Given the description of an element on the screen output the (x, y) to click on. 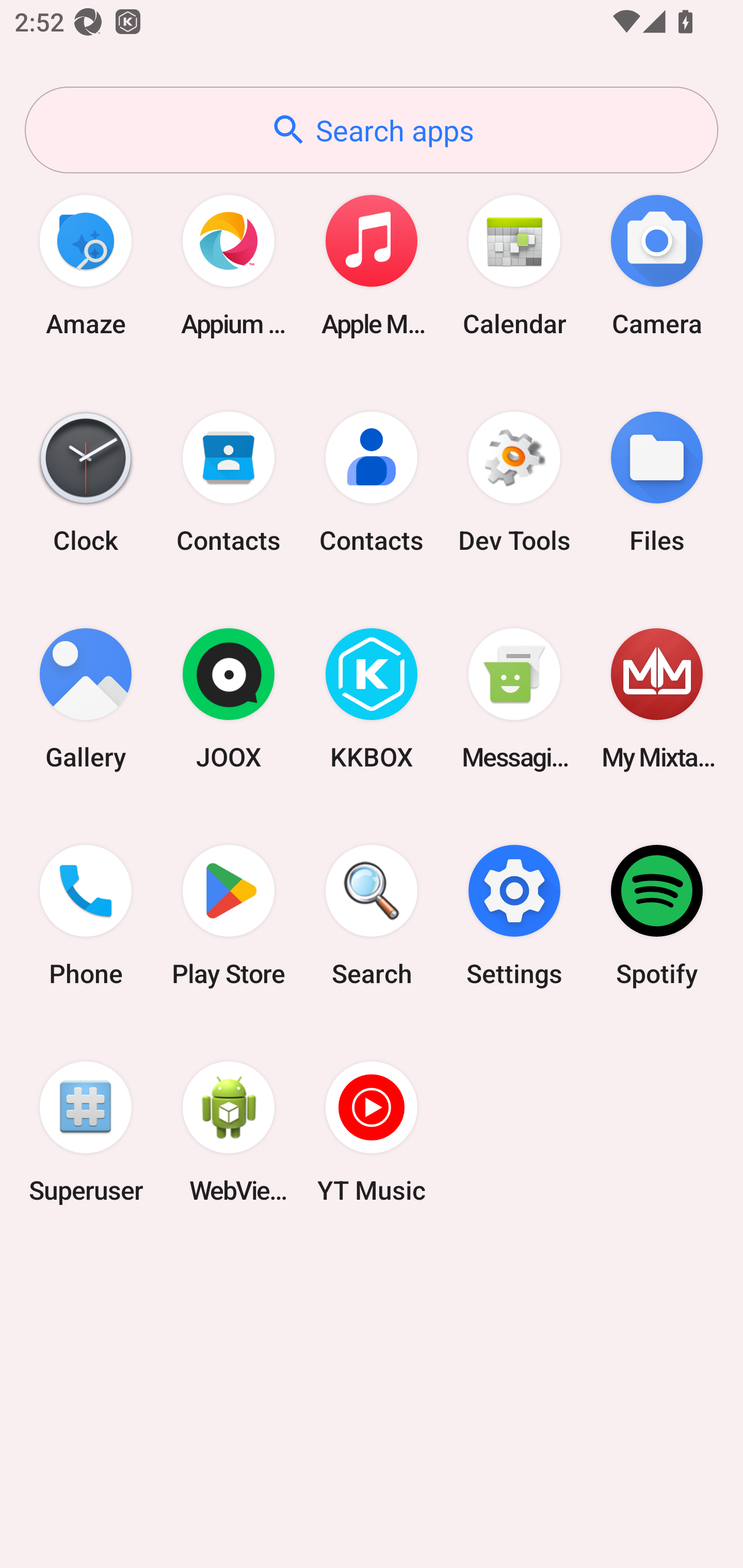
  Search apps (371, 130)
Amaze (85, 264)
Appium Settings (228, 264)
Apple Music (371, 264)
Calendar (514, 264)
Camera (656, 264)
Clock (85, 482)
Contacts (228, 482)
Contacts (371, 482)
Dev Tools (514, 482)
Files (656, 482)
Gallery (85, 699)
JOOX (228, 699)
KKBOX (371, 699)
Messaging (514, 699)
My Mixtapez (656, 699)
Phone (85, 915)
Play Store (228, 915)
Search (371, 915)
Settings (514, 915)
Spotify (656, 915)
Superuser (85, 1131)
WebView Browser Tester (228, 1131)
YT Music (371, 1131)
